Given the description of an element on the screen output the (x, y) to click on. 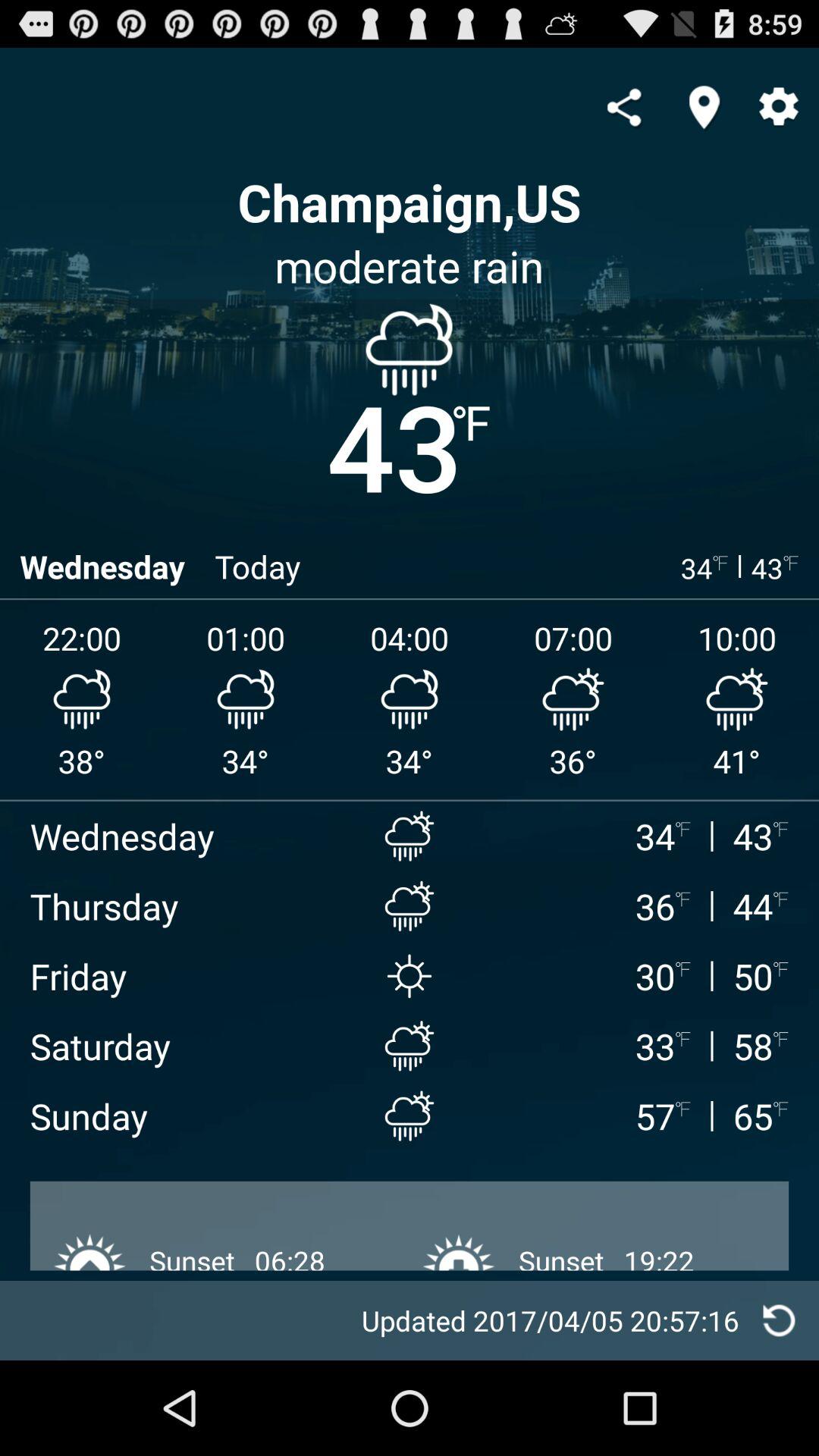
update weather details (779, 1320)
